Given the description of an element on the screen output the (x, y) to click on. 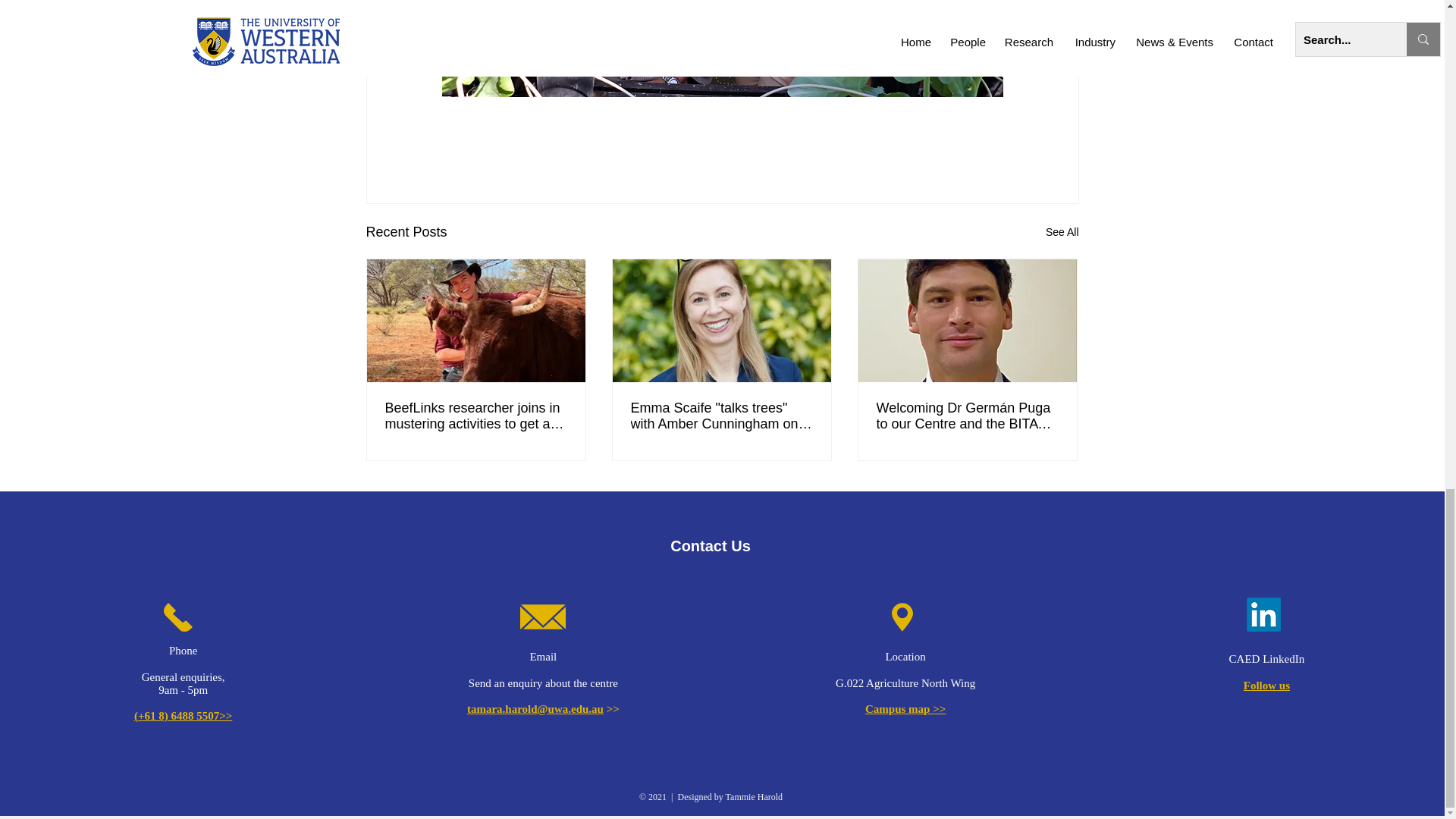
See All (1061, 232)
Follow us (1266, 685)
